Given the description of an element on the screen output the (x, y) to click on. 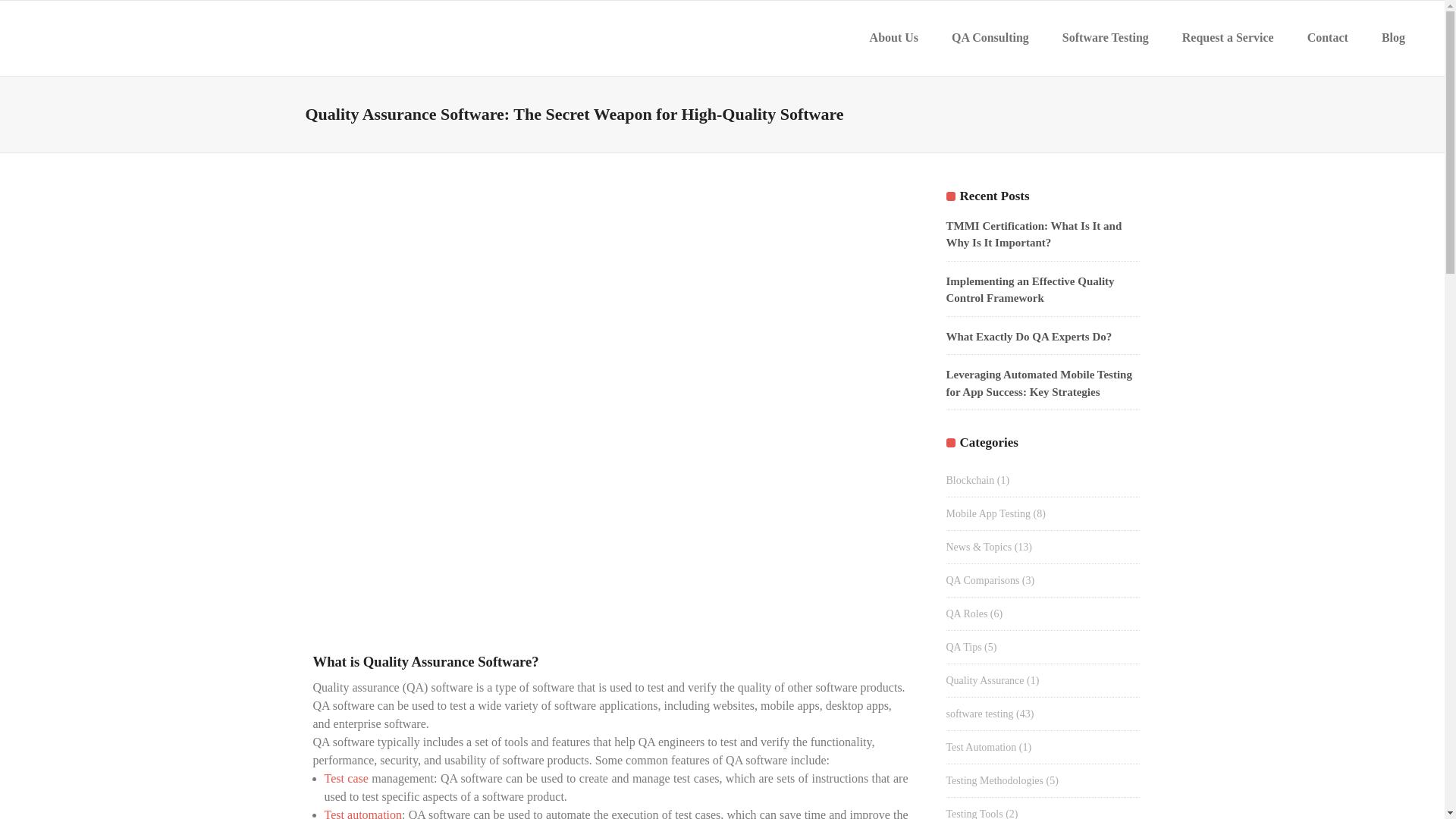
Software Testing (1104, 38)
Contact (1327, 38)
TMMI Certification: What Is It and Why Is It Important? (1034, 234)
About Us (893, 38)
QA Consulting (989, 38)
Request a Service (1227, 38)
Test automation (363, 813)
Test case (346, 778)
